Given the description of an element on the screen output the (x, y) to click on. 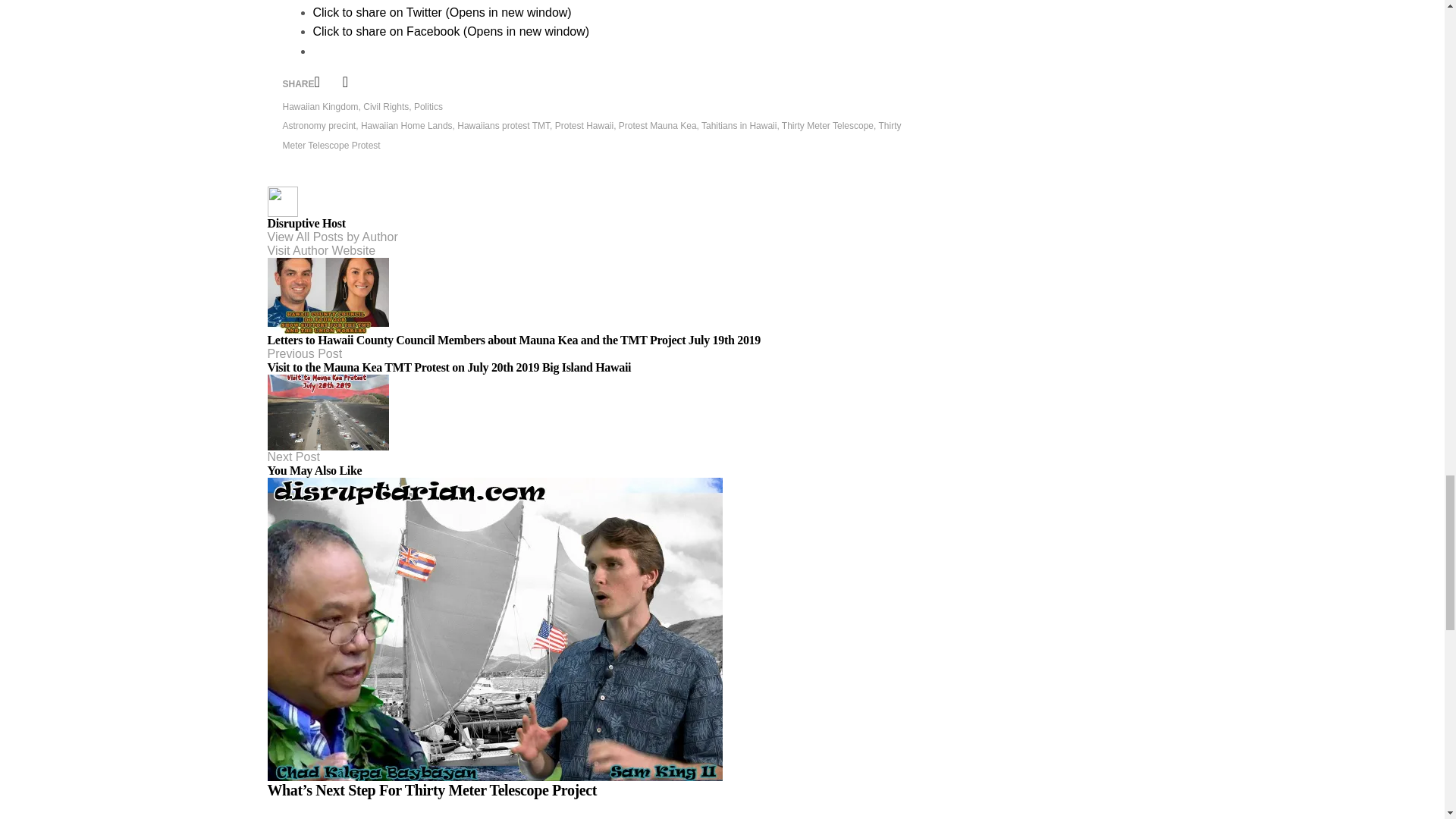
Click to share on Twitter (441, 11)
Astronomy precint (318, 125)
Politics (427, 106)
Click to share on Facebook (451, 31)
Civil Rights (385, 106)
Hawaiian Kingdom (320, 106)
